Given the description of an element on the screen output the (x, y) to click on. 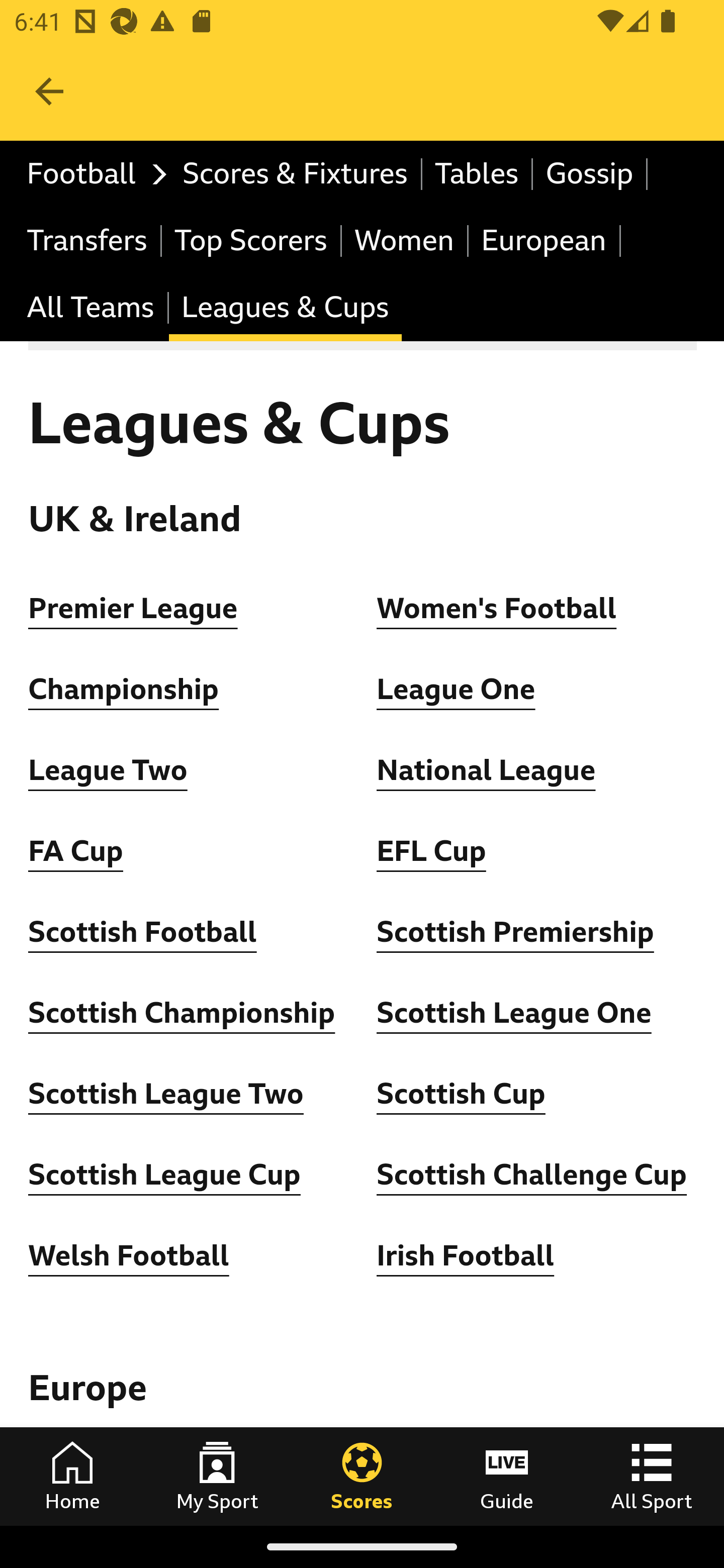
Navigate up (49, 91)
Football (91, 173)
Scores & Fixtures (295, 173)
Tables (477, 173)
Gossip (590, 173)
Transfers (88, 240)
Top Scorers (251, 240)
Women (405, 240)
European (544, 240)
All Teams (91, 308)
Leagues & Cups (284, 308)
Premier League (133, 608)
Women's Football (496, 608)
Championship (123, 689)
League One (456, 689)
League Two (108, 770)
National League (486, 770)
FA Cup (75, 851)
EFL Cup (431, 851)
Scottish Football (142, 932)
Scottish Premiership (515, 932)
Scottish Championship (181, 1012)
Scottish League One (514, 1012)
Scottish League Two (166, 1094)
Scottish Cup (460, 1094)
Scottish League Cup (164, 1175)
Scottish Challenge Cup (531, 1175)
Welsh Football (129, 1255)
Irish Football (466, 1255)
Home (72, 1475)
My Sport (216, 1475)
Guide (506, 1475)
All Sport (651, 1475)
